Given the description of an element on the screen output the (x, y) to click on. 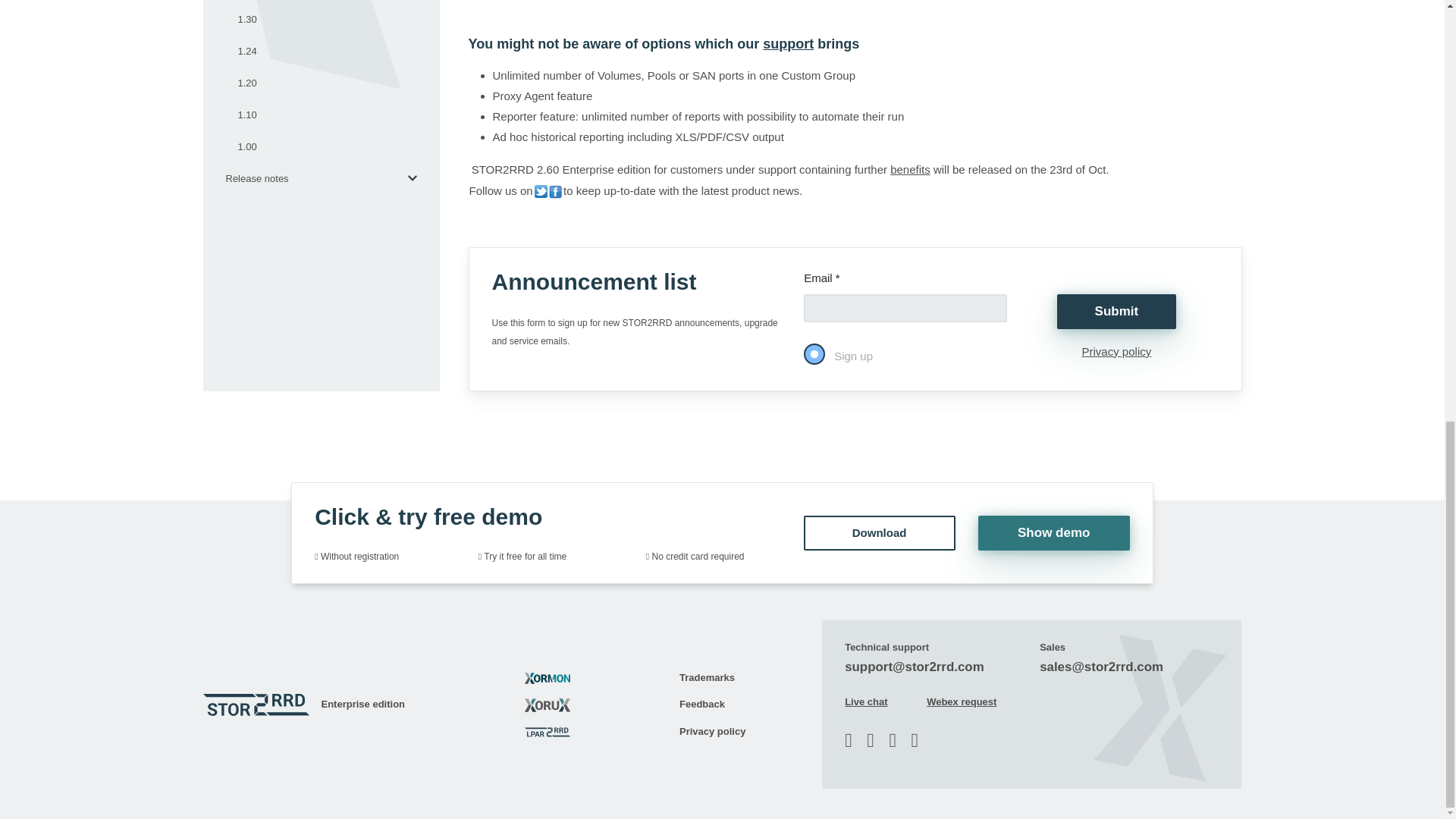
STOR2RRD on Twitter (540, 190)
STOR2RRD on Facebook (555, 190)
